Given the description of an element on the screen output the (x, y) to click on. 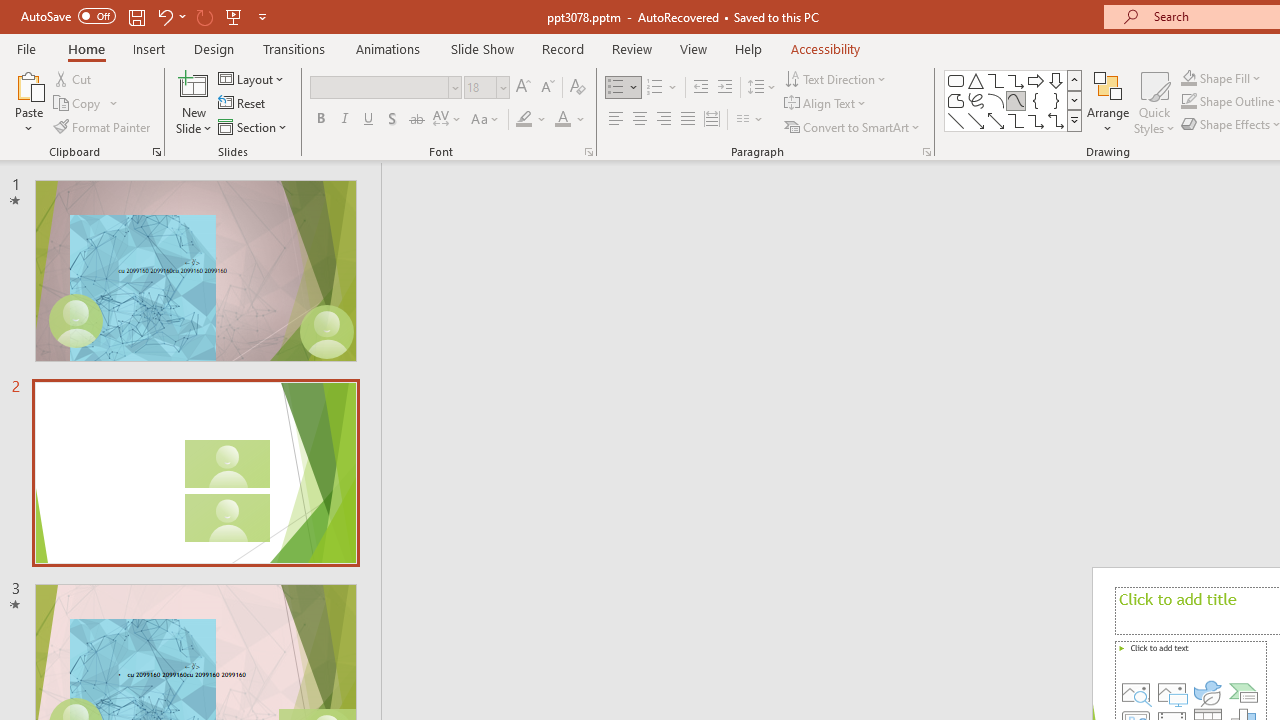
Line Arrow: Double (995, 120)
Insert an Icon (1207, 692)
